Given the description of an element on the screen output the (x, y) to click on. 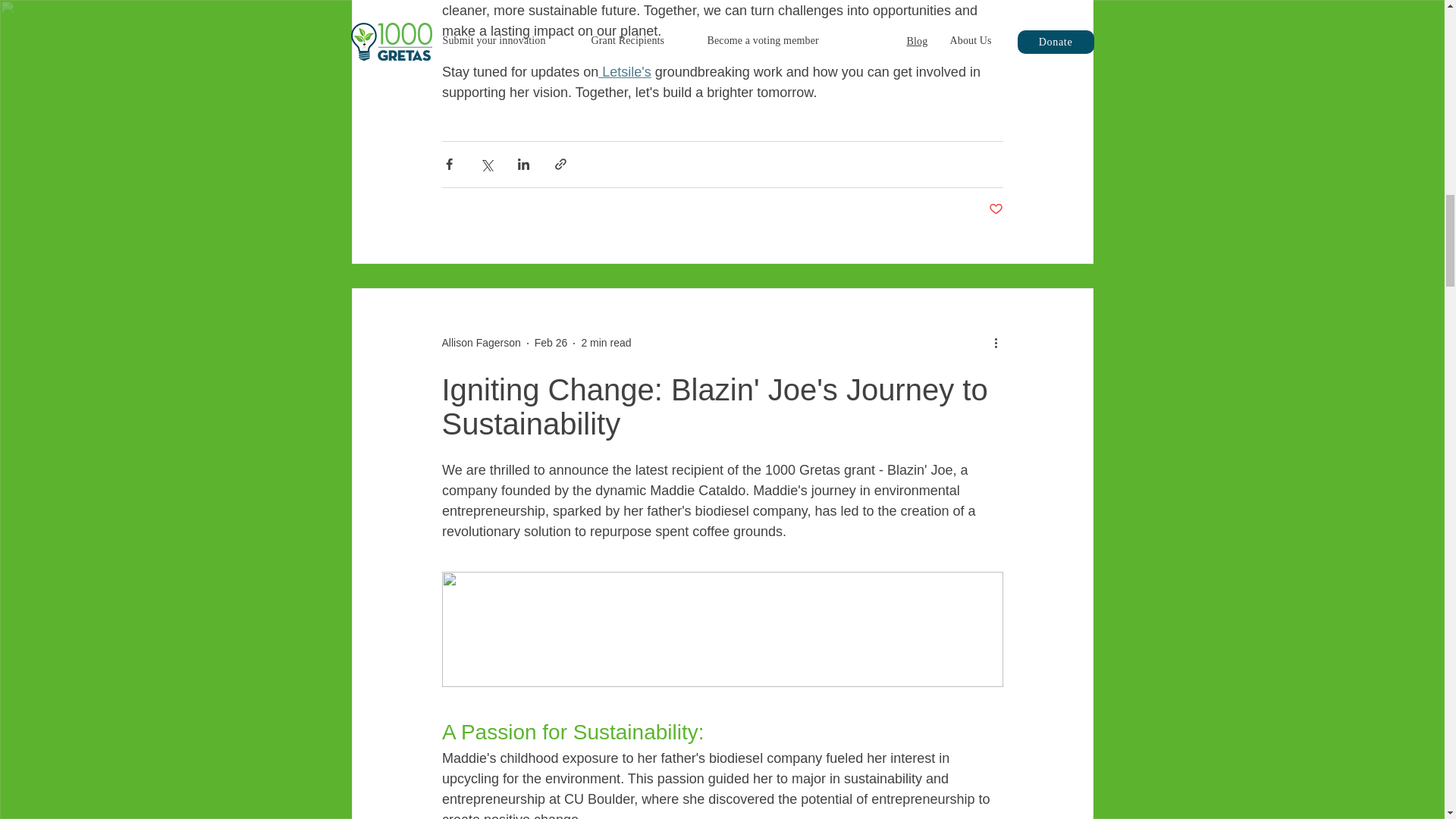
 Letsile's (624, 71)
Igniting Change: Blazin' Joe's Journey to Sustainability (714, 406)
Post not marked as liked (995, 209)
Allison Fagerson (480, 342)
Feb 26 (550, 342)
2 min read (605, 342)
Allison Fagerson (480, 342)
